Given the description of an element on the screen output the (x, y) to click on. 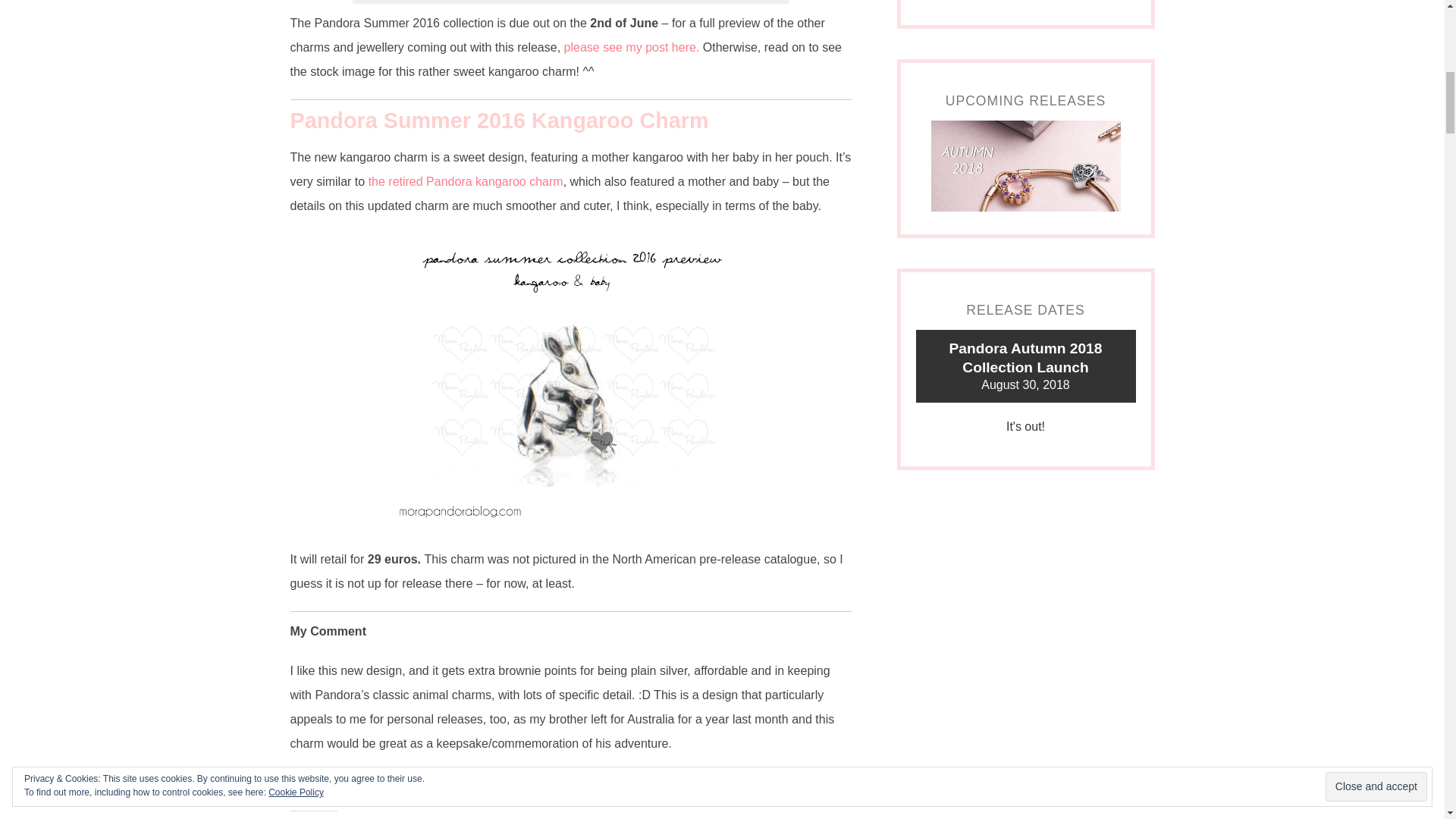
the retired Pandora kangaroo charm (465, 181)
please see my post here. (629, 47)
